Given the description of an element on the screen output the (x, y) to click on. 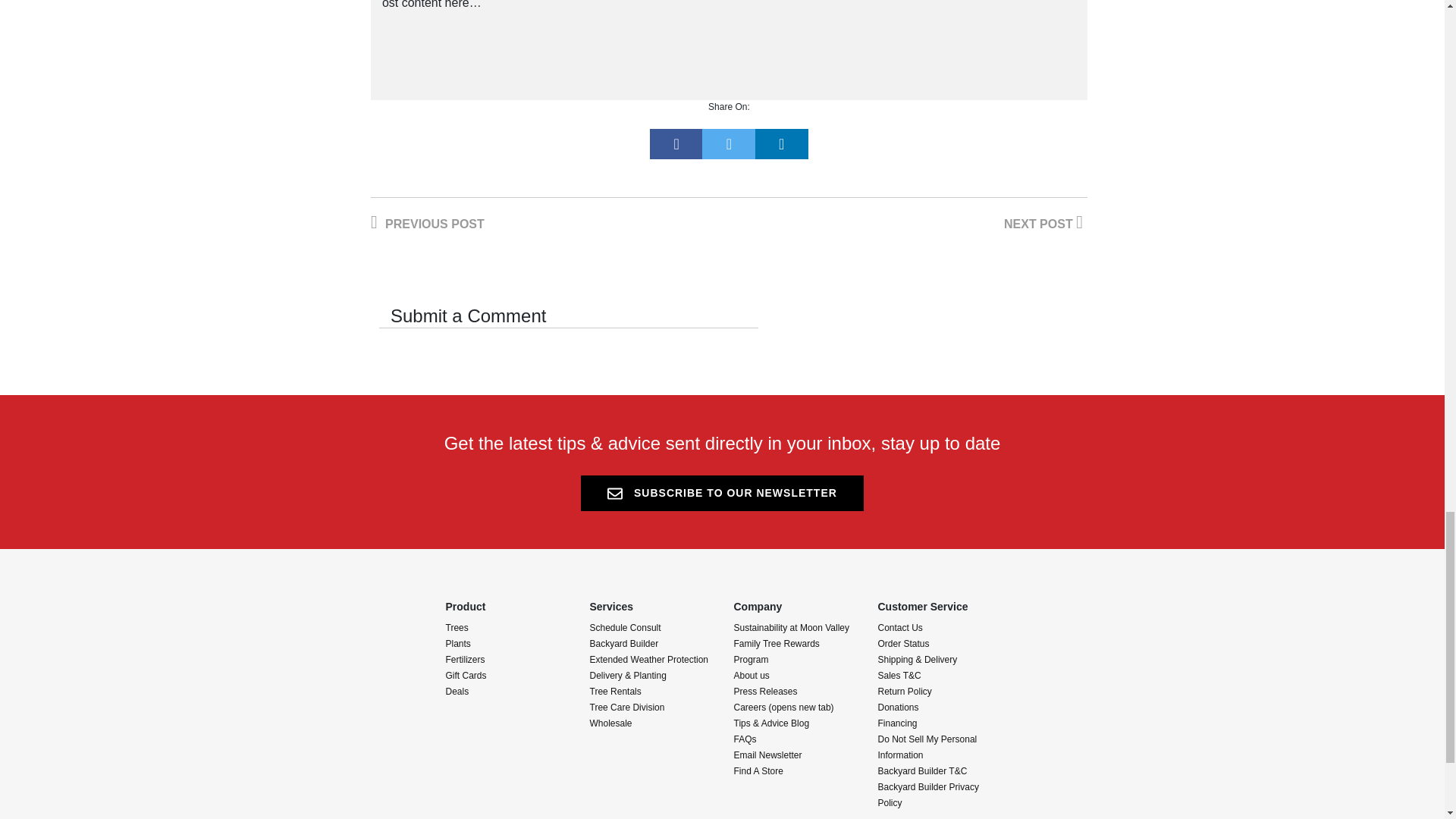
linkedin (781, 143)
facebook (676, 143)
twitter (728, 143)
